Given the description of an element on the screen output the (x, y) to click on. 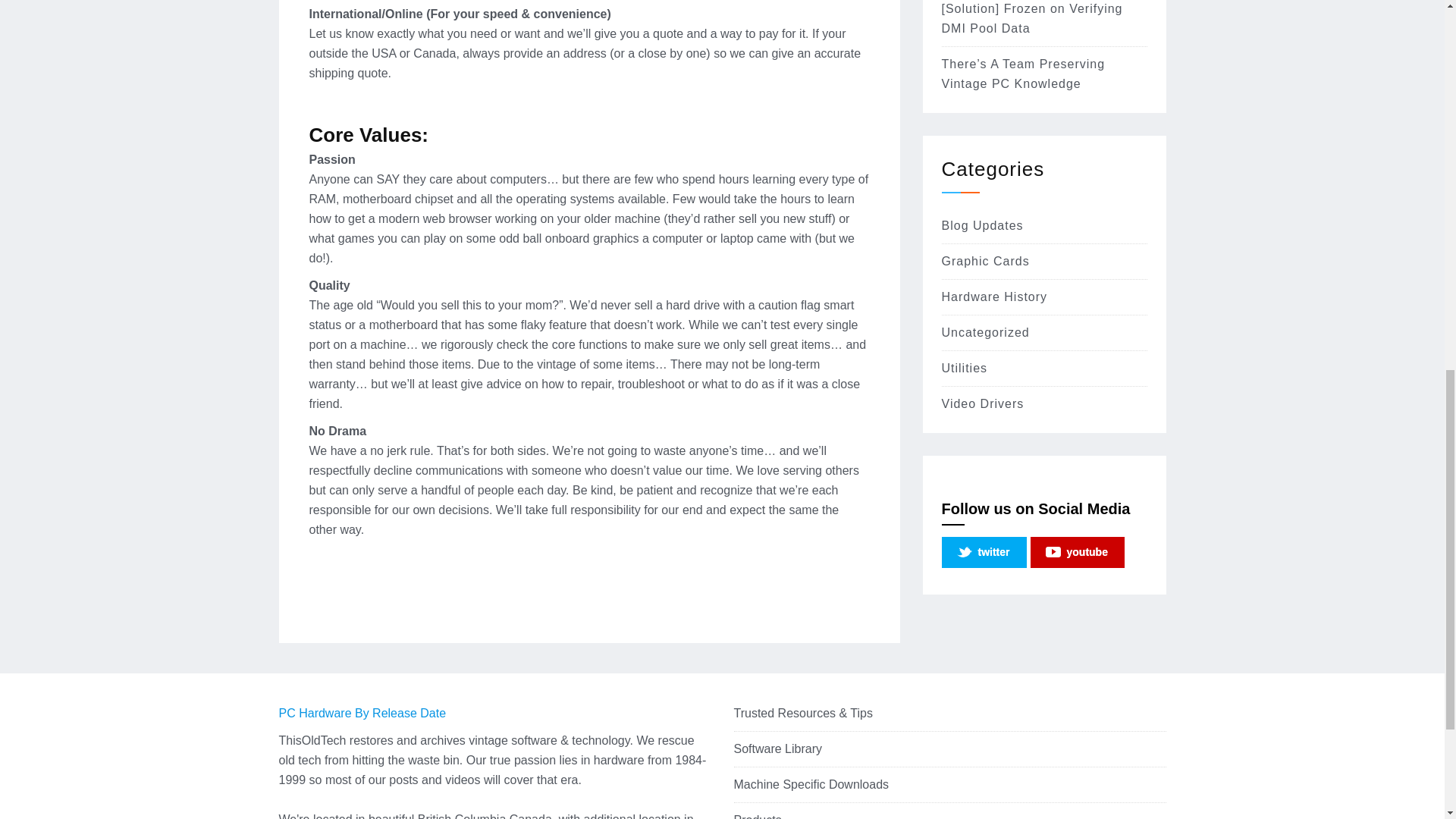
Products (757, 816)
youtube (1076, 552)
twitter (984, 552)
Graphic Cards (985, 260)
Utilities (965, 367)
Machine Specific Downloads (811, 784)
Software Library (777, 748)
Hardware History (995, 296)
Uncategorized (985, 332)
Blog Updates (982, 225)
